Given the description of an element on the screen output the (x, y) to click on. 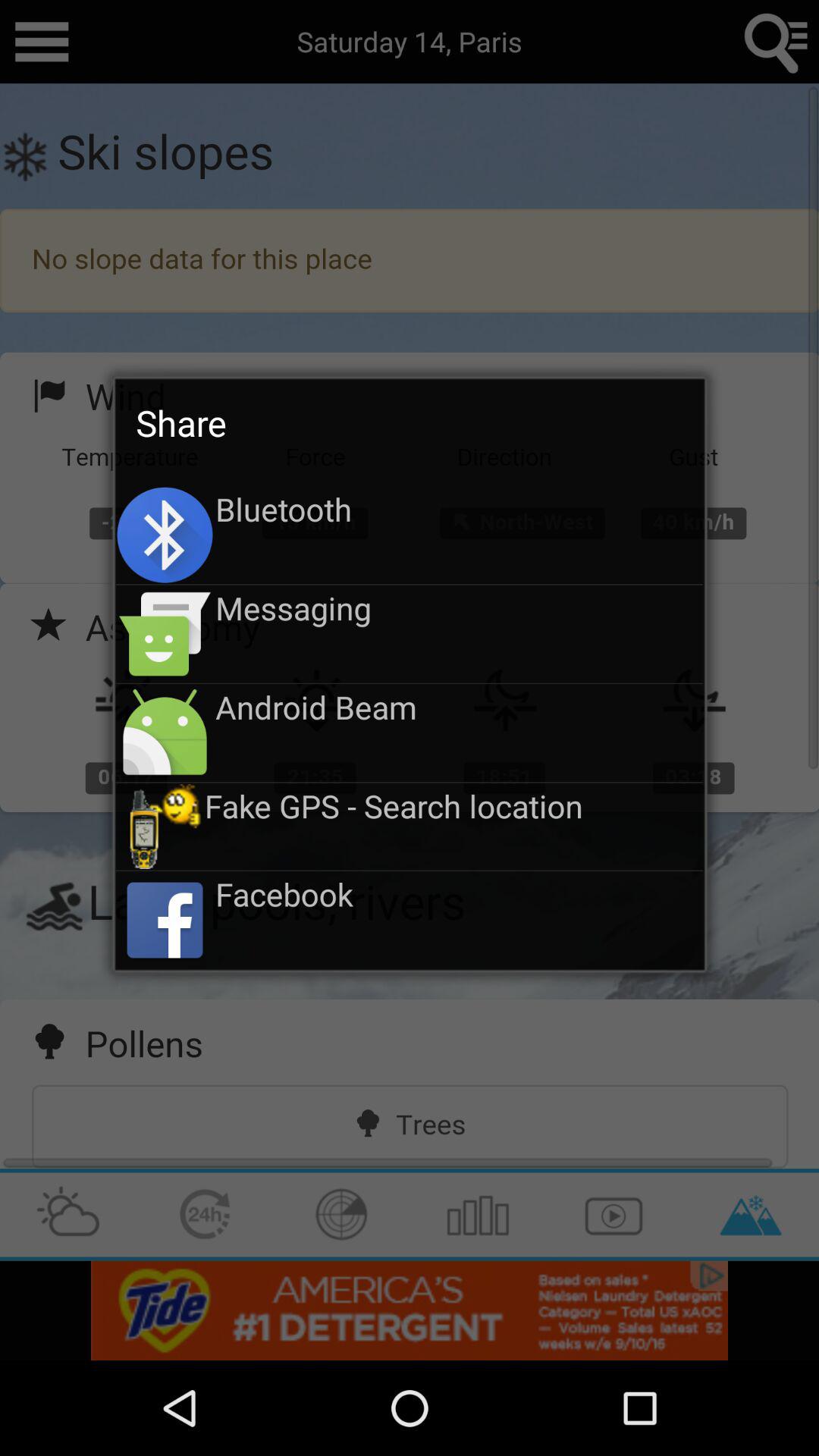
click facebook (458, 893)
